Given the description of an element on the screen output the (x, y) to click on. 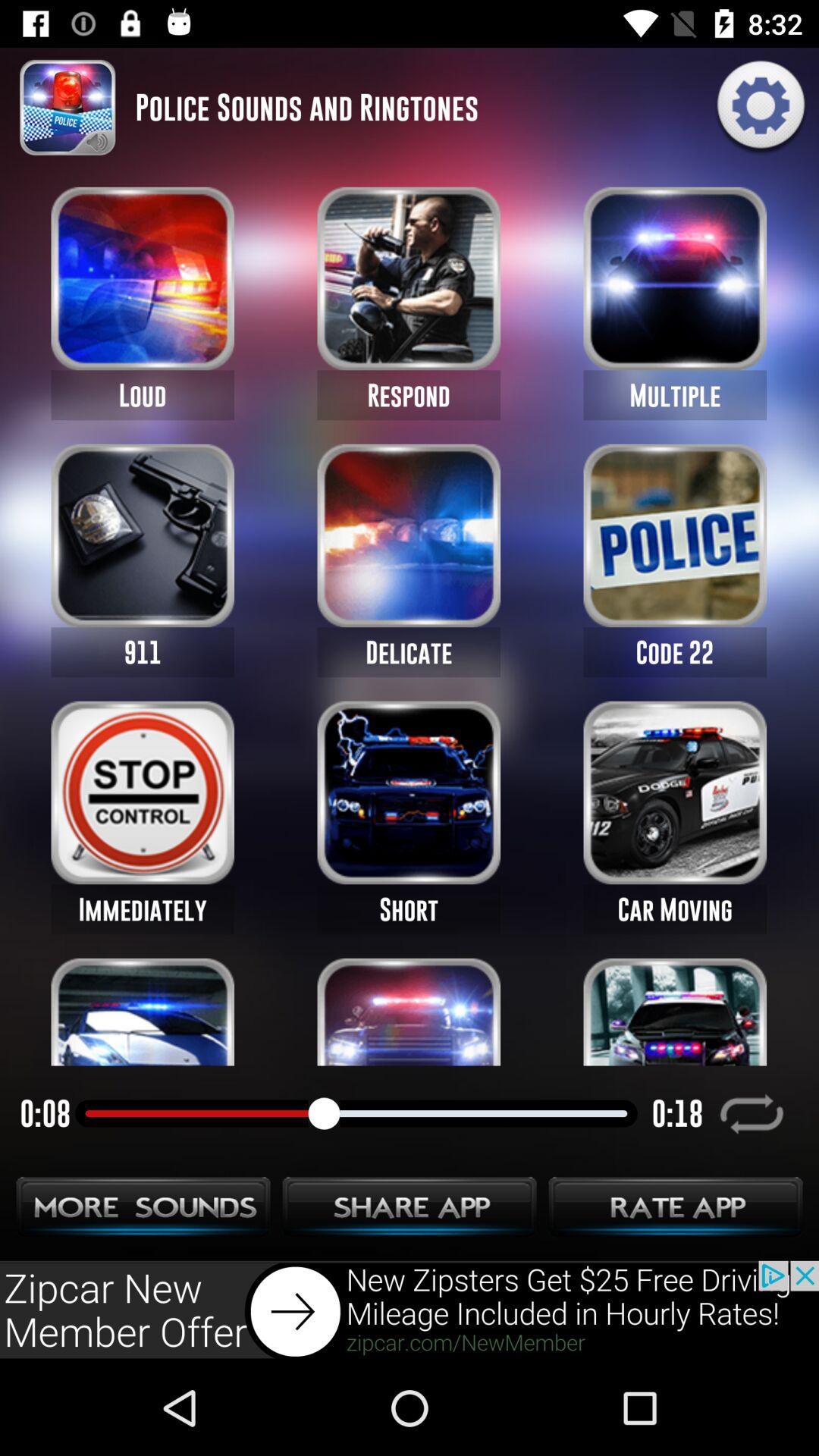
click on the button which is left side of the share app (143, 1211)
select the image below the settings button on the web page (674, 278)
click on settings icon on the top most right corner of the page (761, 107)
click on the image above immediately (142, 792)
select the first image on the web page (142, 278)
click on the image above code 22 (674, 535)
click on the image below car moving (674, 1011)
click on the button which is next to more sounds (409, 1211)
